Given the description of an element on the screen output the (x, y) to click on. 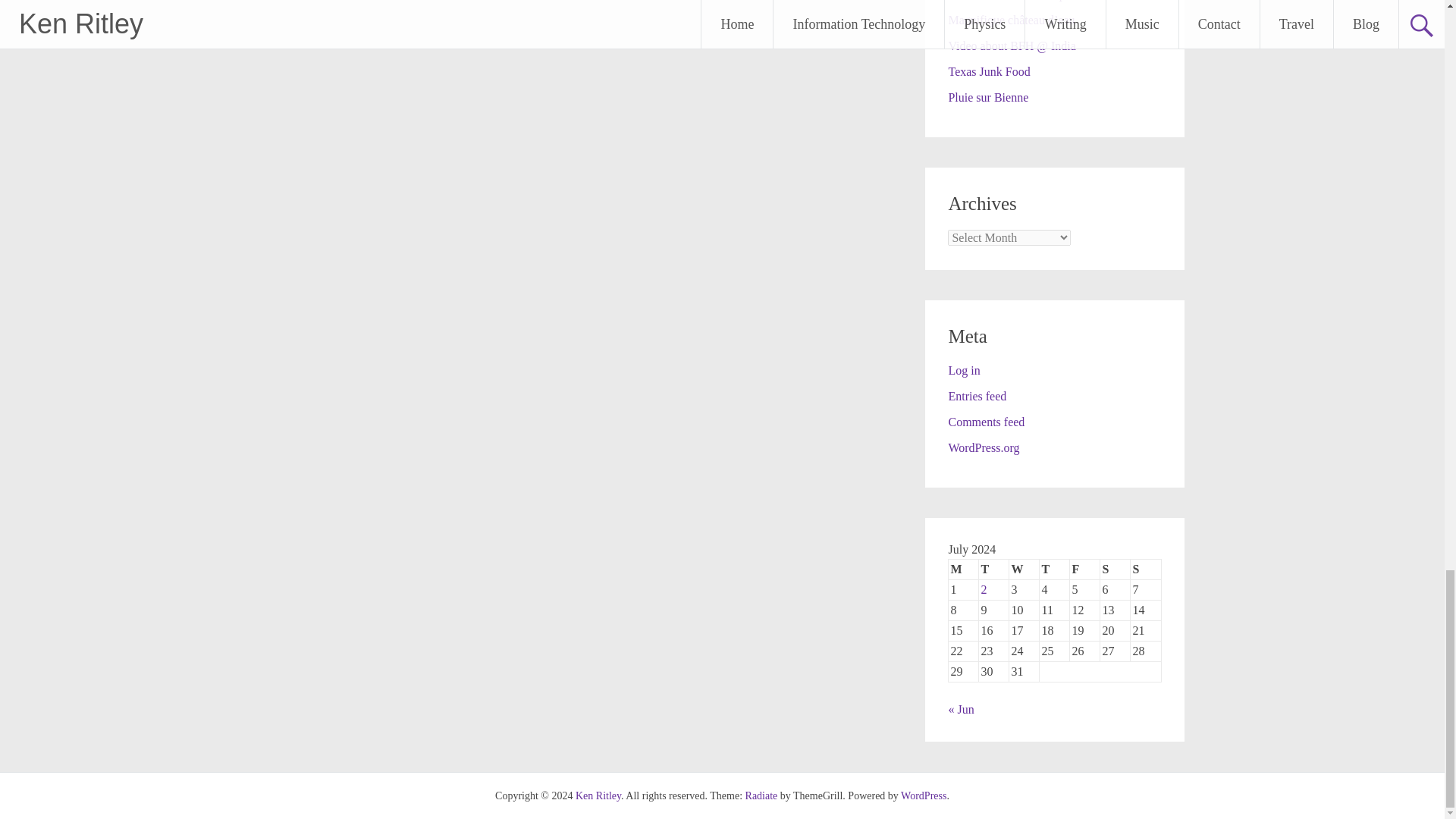
Wednesday (1024, 569)
Monday (963, 569)
Thursday (1054, 569)
WordPress (923, 795)
Saturday (1115, 569)
Tuesday (993, 569)
Friday (1085, 569)
Sunday (1145, 569)
Radiate (761, 795)
Ken Ritley (598, 795)
